Given the description of an element on the screen output the (x, y) to click on. 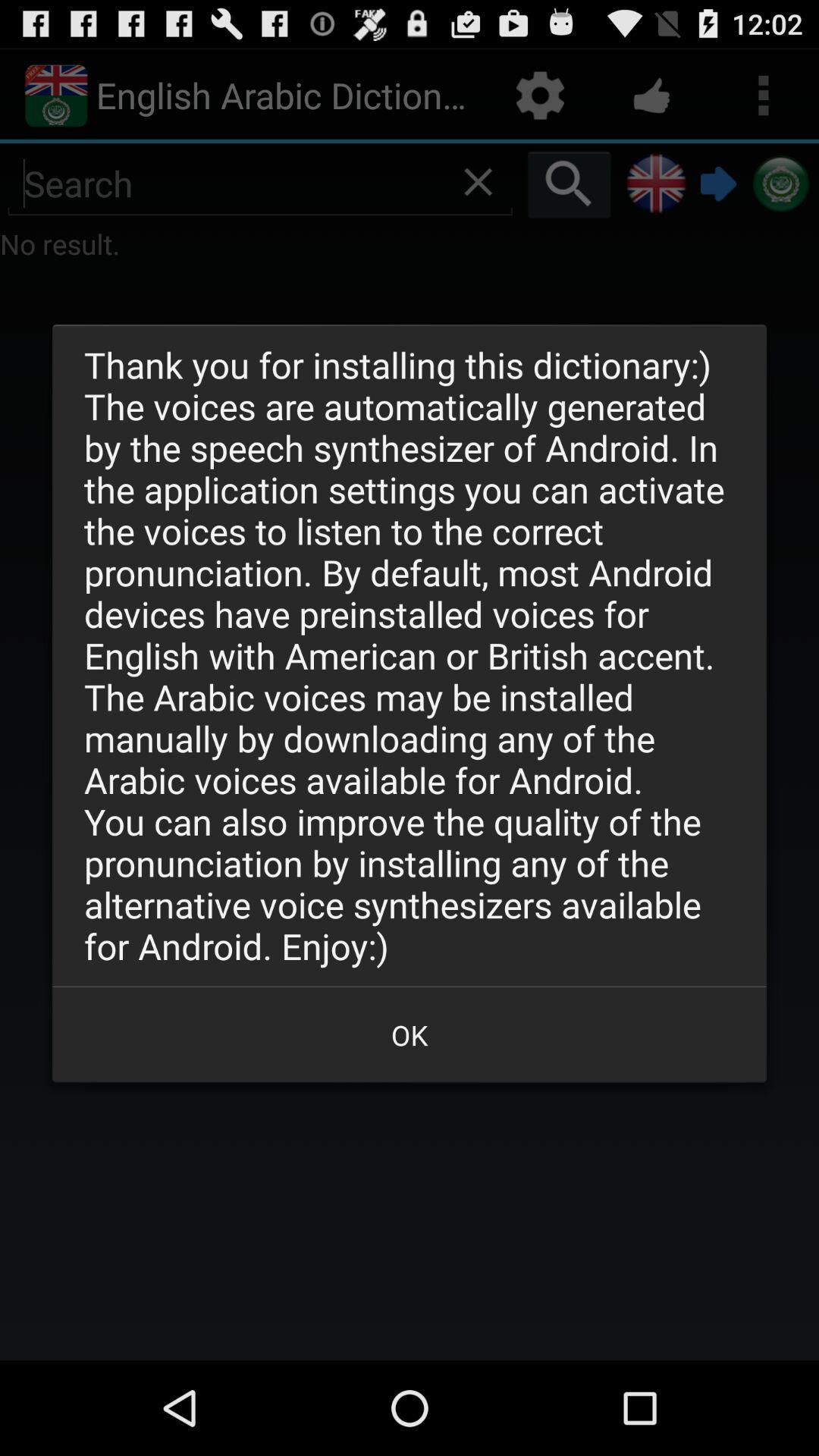
launch the icon below thank you for icon (409, 1034)
